Given the description of an element on the screen output the (x, y) to click on. 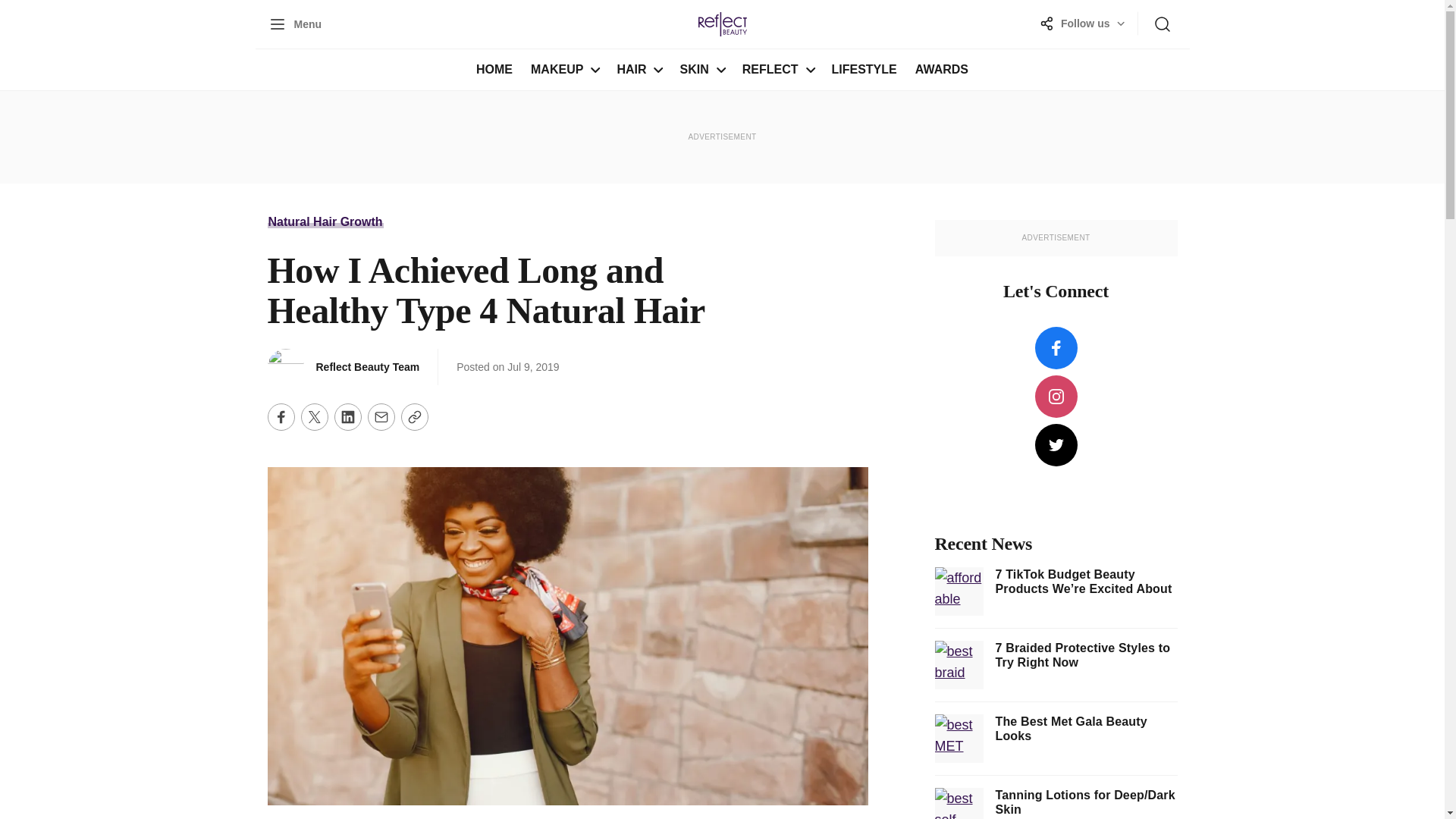
HAIR (626, 69)
REFLECT (765, 69)
Reflect Beauty (721, 24)
AWARDS (940, 69)
MAKEUP (293, 24)
Natural Hair Growth (552, 69)
HOME (324, 221)
SKIN (494, 69)
Follow us (688, 69)
Posts in the "Natural Hair Growth" category (1082, 23)
Reflect Beauty Team (324, 221)
LIFESTYLE (367, 367)
